Given the description of an element on the screen output the (x, y) to click on. 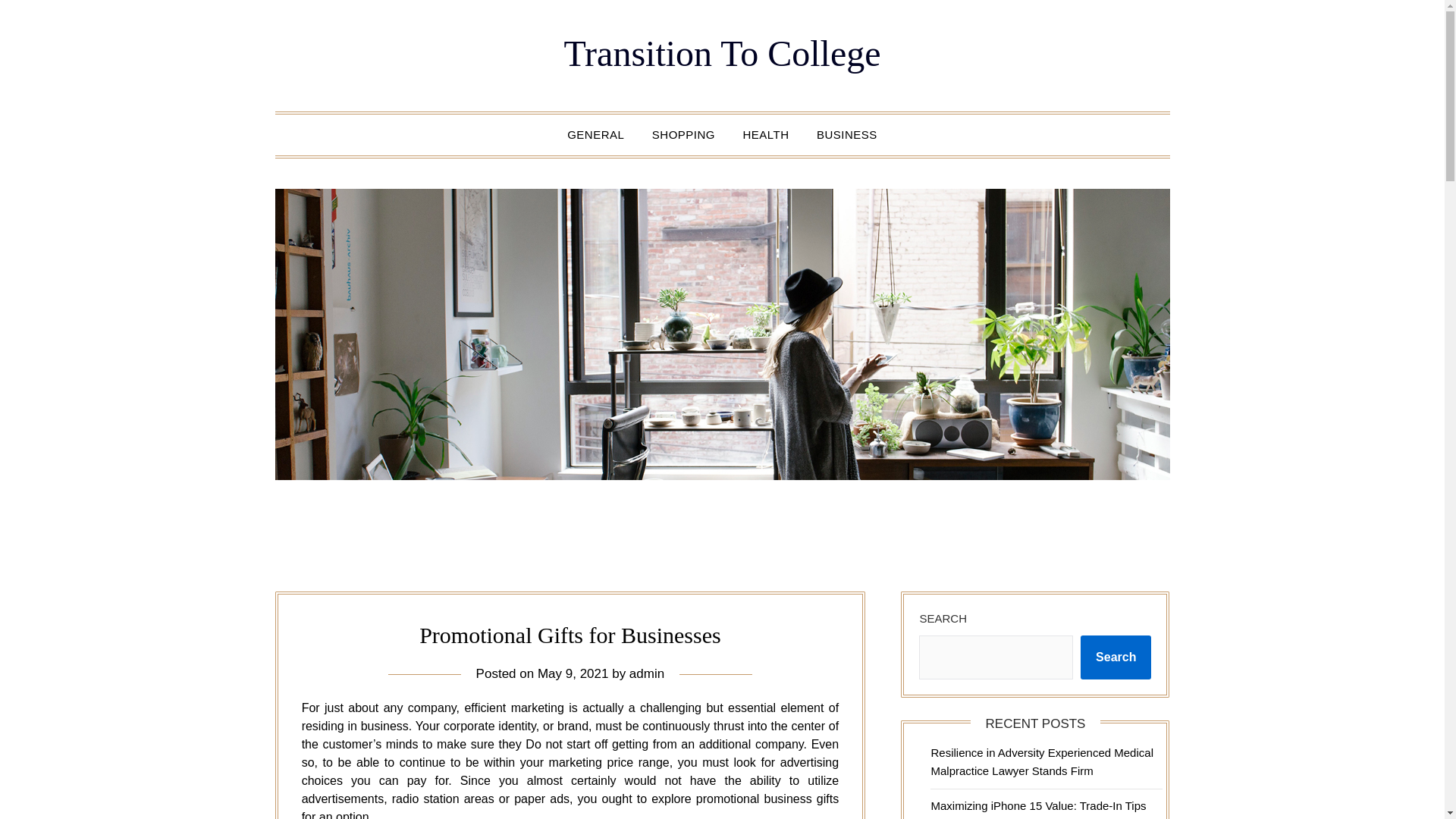
May 9, 2021 (572, 673)
admin (645, 673)
Maximizing iPhone 15 Value: Trade-In Tips and Considerations (1037, 809)
Search (1115, 657)
Transition To College (721, 53)
SHOPPING (683, 134)
HEALTH (765, 134)
GENERAL (595, 134)
BUSINESS (847, 134)
